Given the description of an element on the screen output the (x, y) to click on. 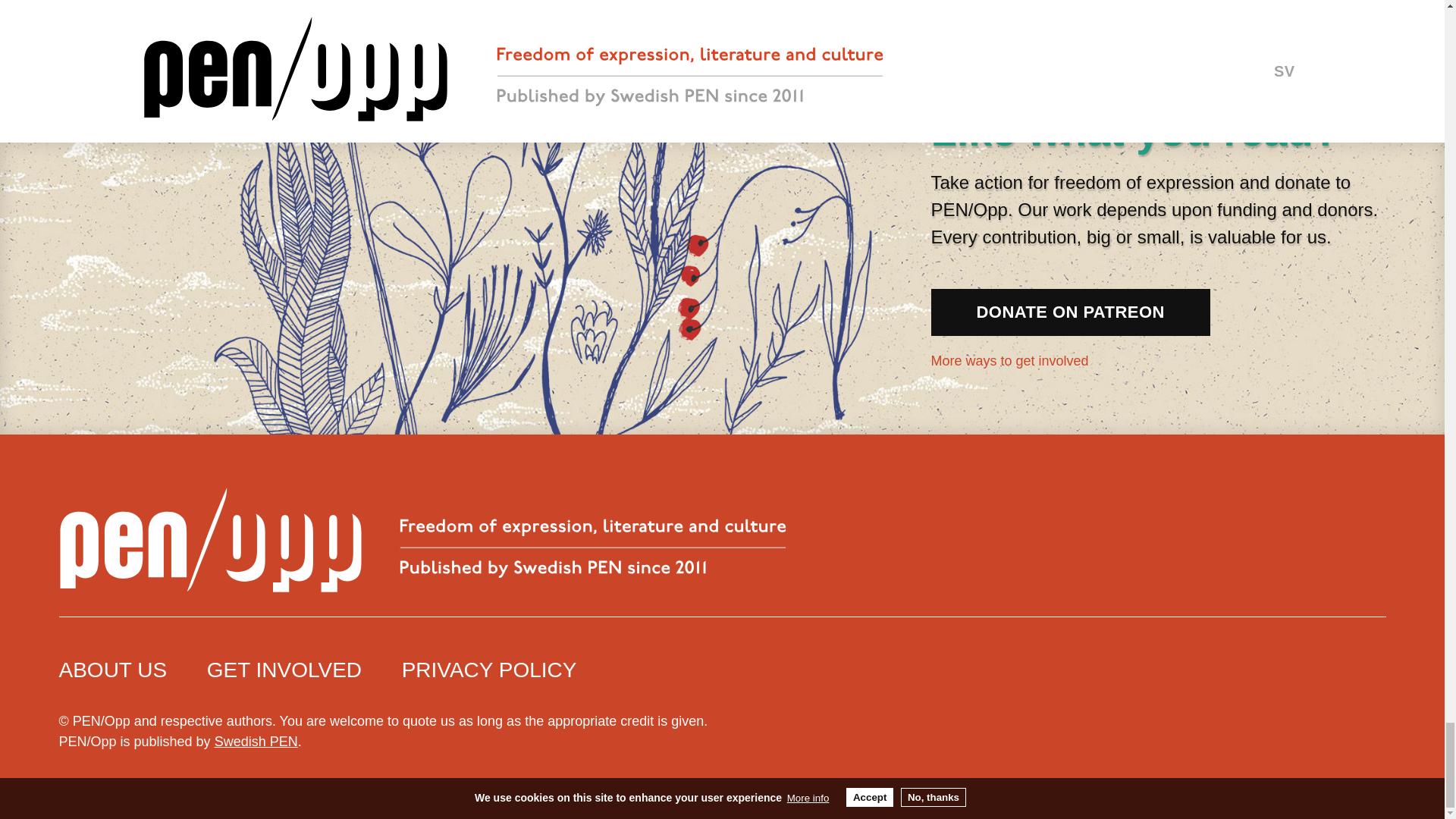
DONATE ON PATREON (1070, 312)
More ways to get involved (1026, 361)
Swedish PEN (256, 741)
PRIVACY POLICY (488, 669)
GET INVOLVED (283, 669)
ABOUT US (113, 669)
